Given the description of an element on the screen output the (x, y) to click on. 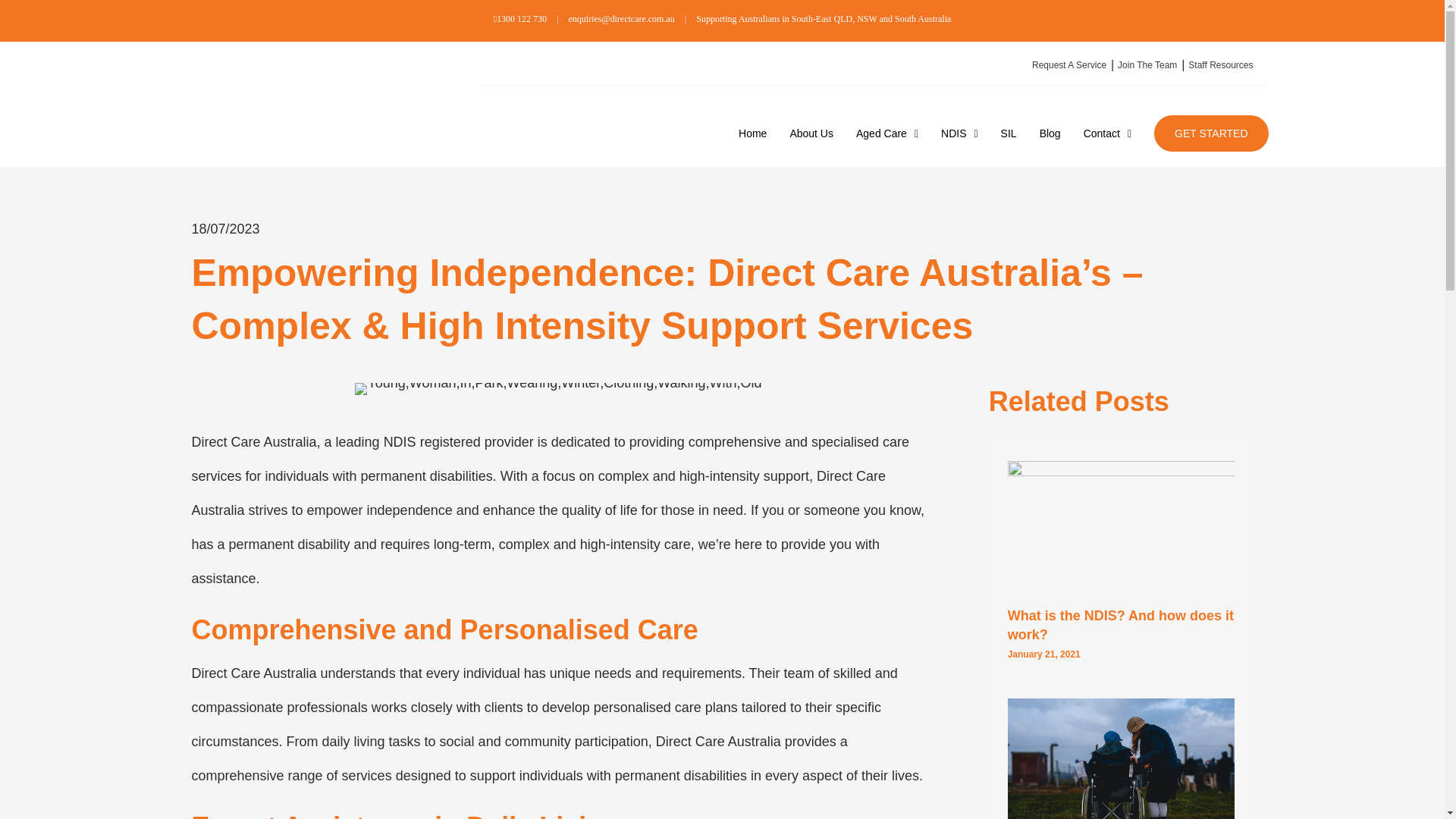
Blog (1050, 132)
Staff Resources (1216, 64)
What is the NDIS? And how does it work? (1120, 529)
Request A Service (1065, 64)
Young,Woman,In,Park,Wearing,Winter,Clothing,Walking,With,Old (558, 388)
1300 122 730 (520, 18)
Join The Team (1142, 64)
SIL (1008, 132)
What is the NDIS? And how does it work? (1120, 625)
Home (752, 132)
About Us (810, 132)
NDIS (959, 132)
GET STARTED (1210, 132)
Aged Care (887, 132)
What is the Home Care Package program? And who is eligible? (1120, 773)
